Given the description of an element on the screen output the (x, y) to click on. 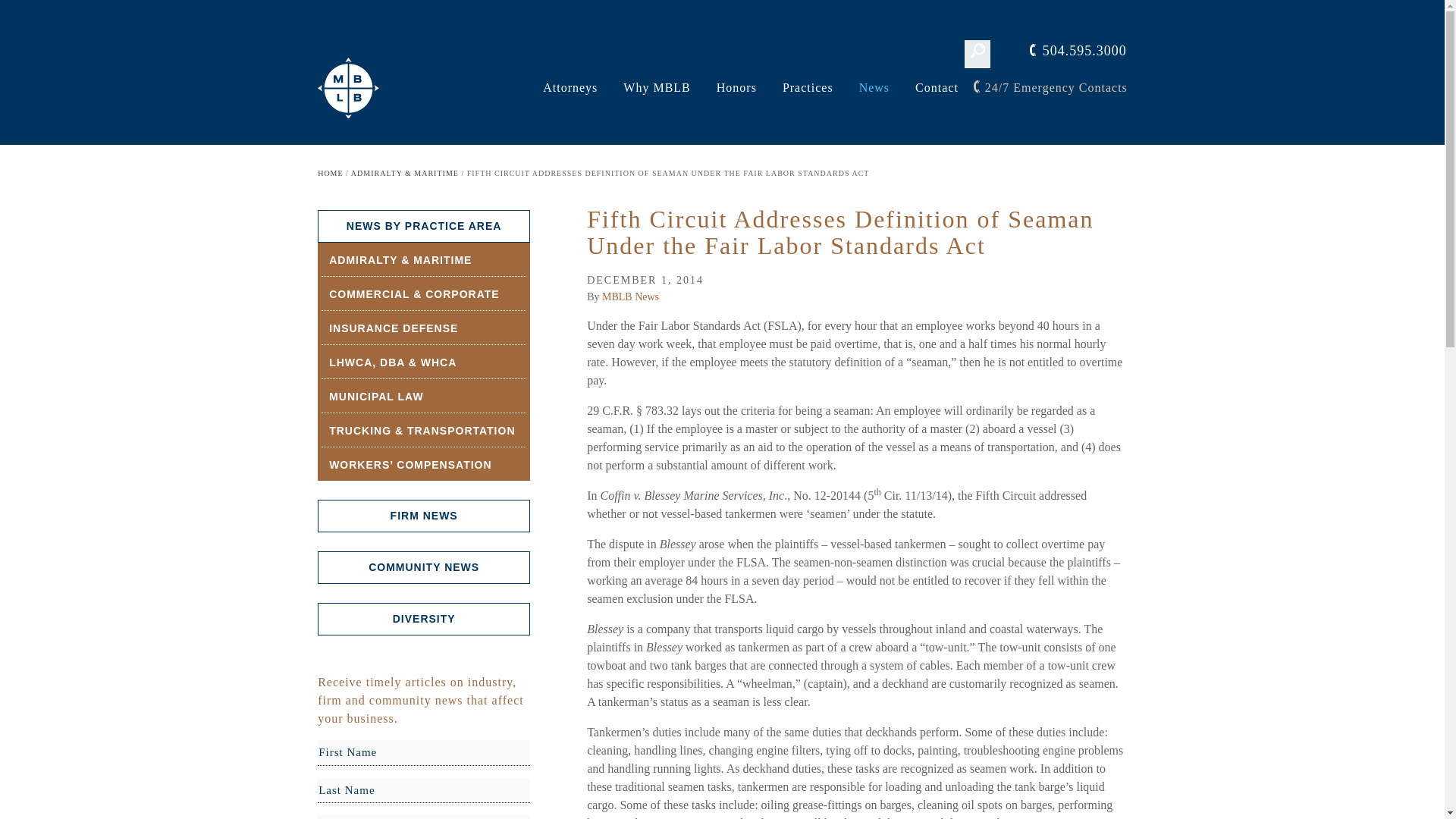
MBLB (348, 86)
504.595.3000 (1076, 50)
Attorneys (569, 87)
Search (26, 14)
